Given the description of an element on the screen output the (x, y) to click on. 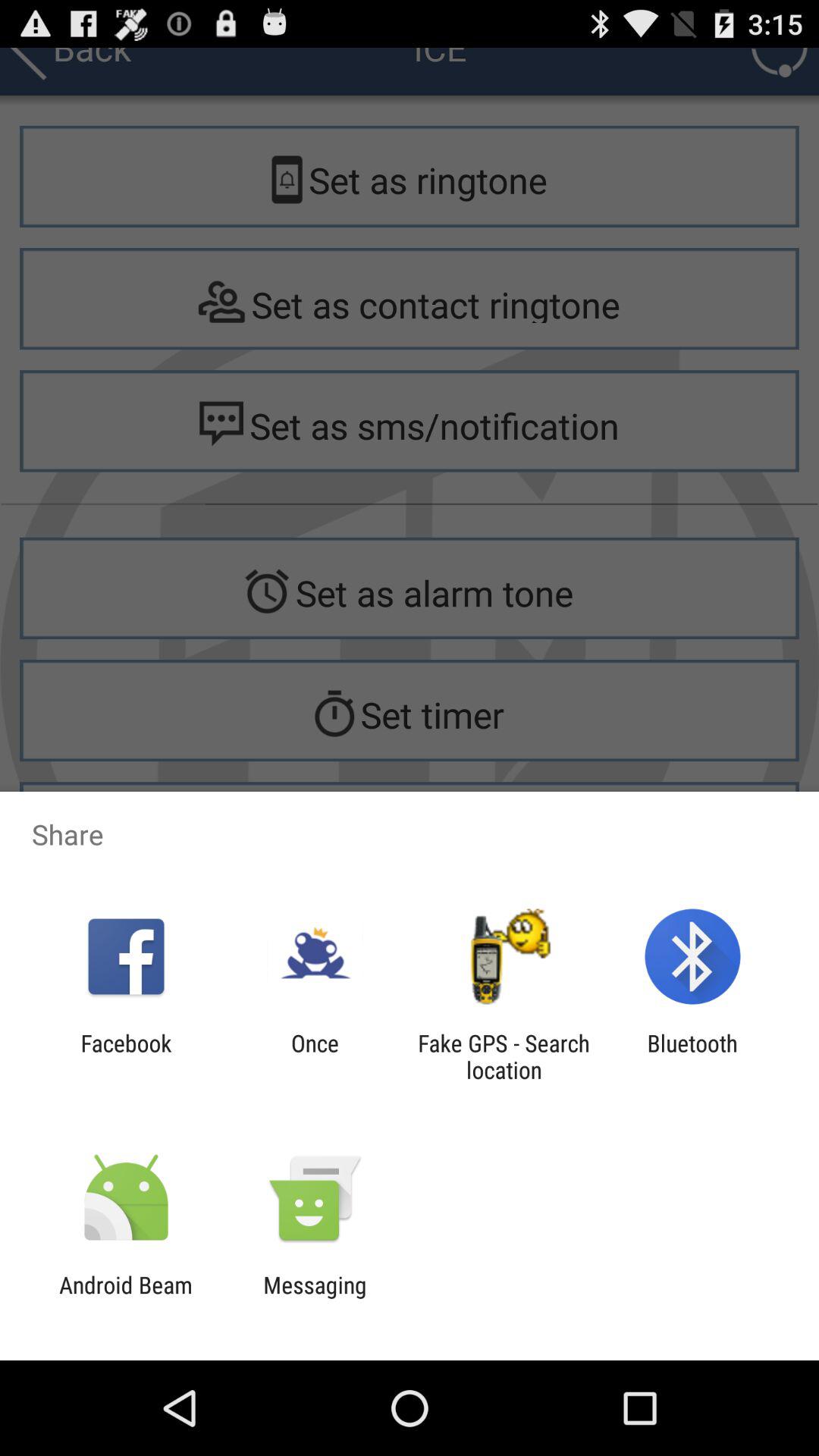
choose bluetooth icon (692, 1056)
